Given the description of an element on the screen output the (x, y) to click on. 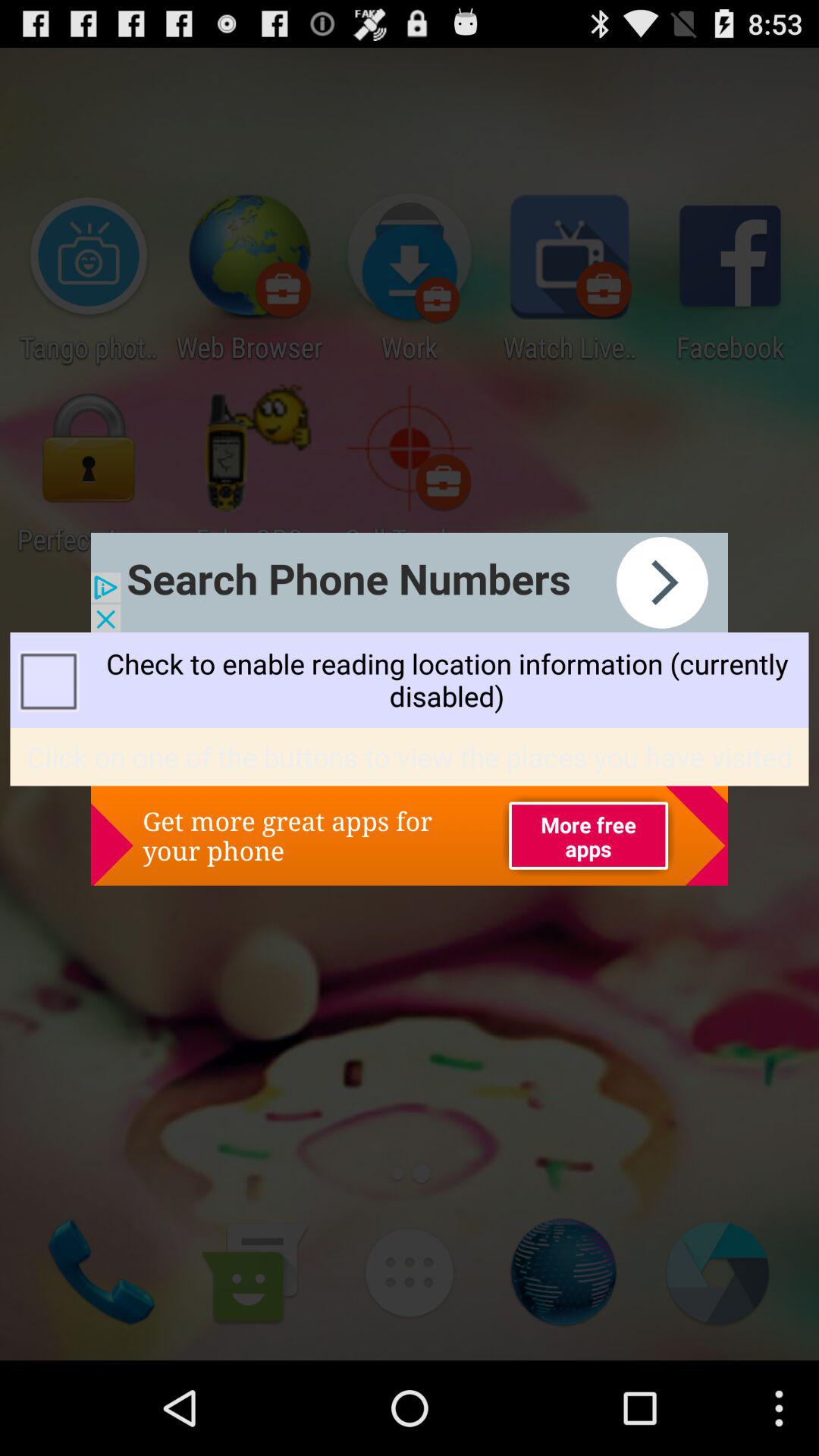
add banner (409, 582)
